Given the description of an element on the screen output the (x, y) to click on. 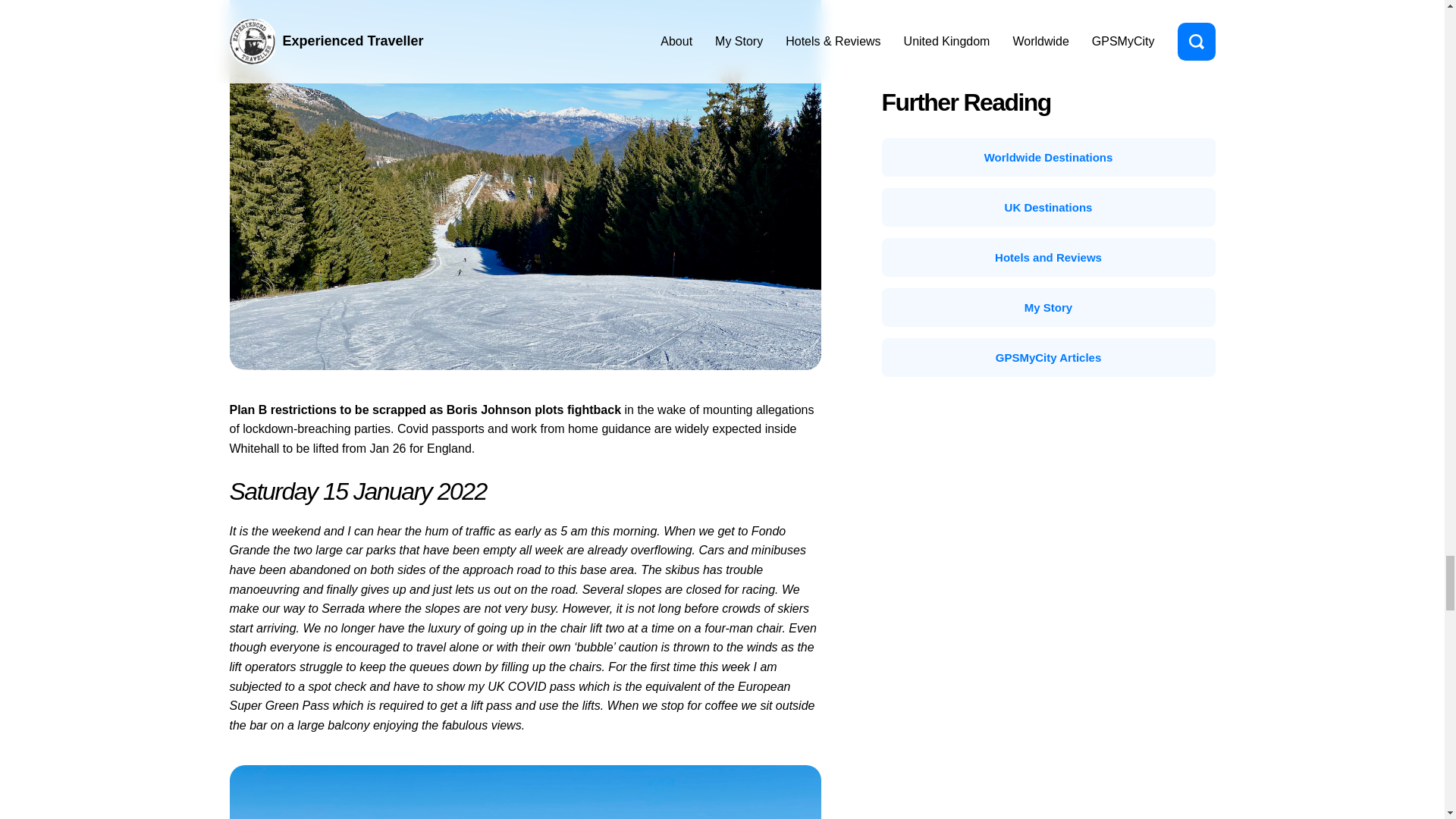
Serrada Ski Area in Folgaria, Italy (524, 791)
